Given the description of an element on the screen output the (x, y) to click on. 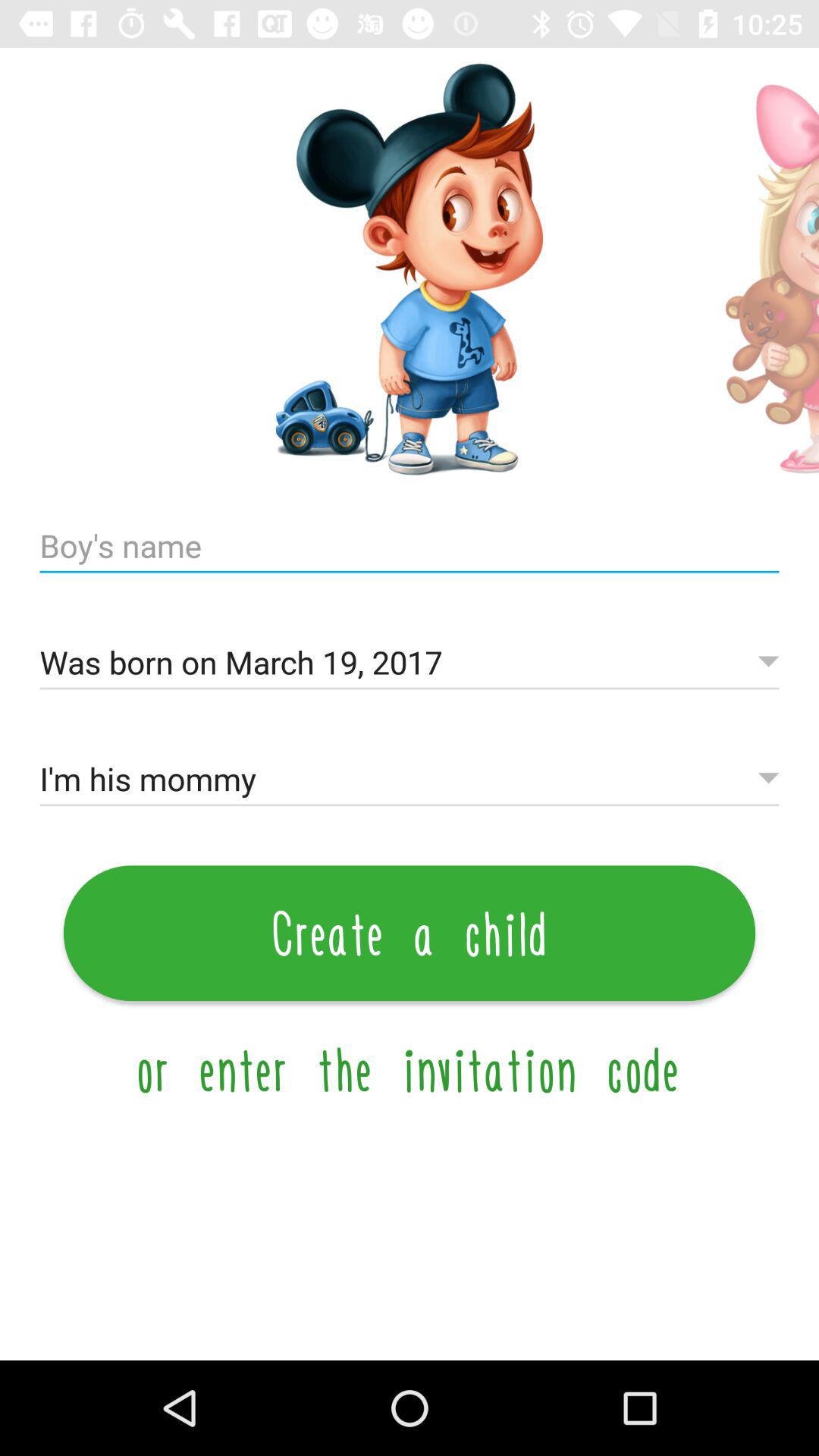
avatar (757, 269)
